Given the description of an element on the screen output the (x, y) to click on. 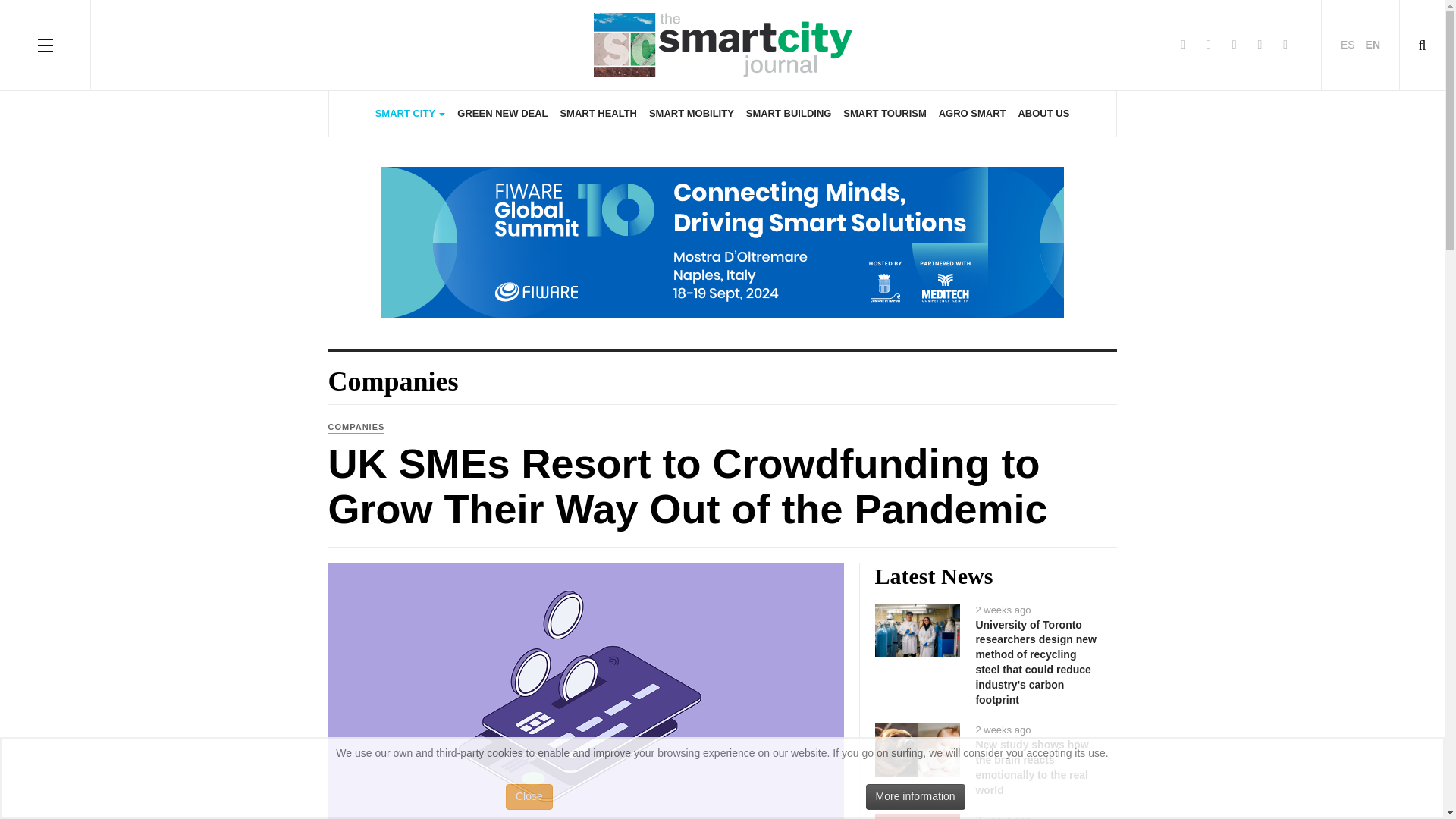
Fiware Global Summit 2024 (722, 242)
SMART CITY (410, 113)
The Smart City Journal (722, 43)
ES (1349, 43)
EN (1372, 43)
